Given the description of an element on the screen output the (x, y) to click on. 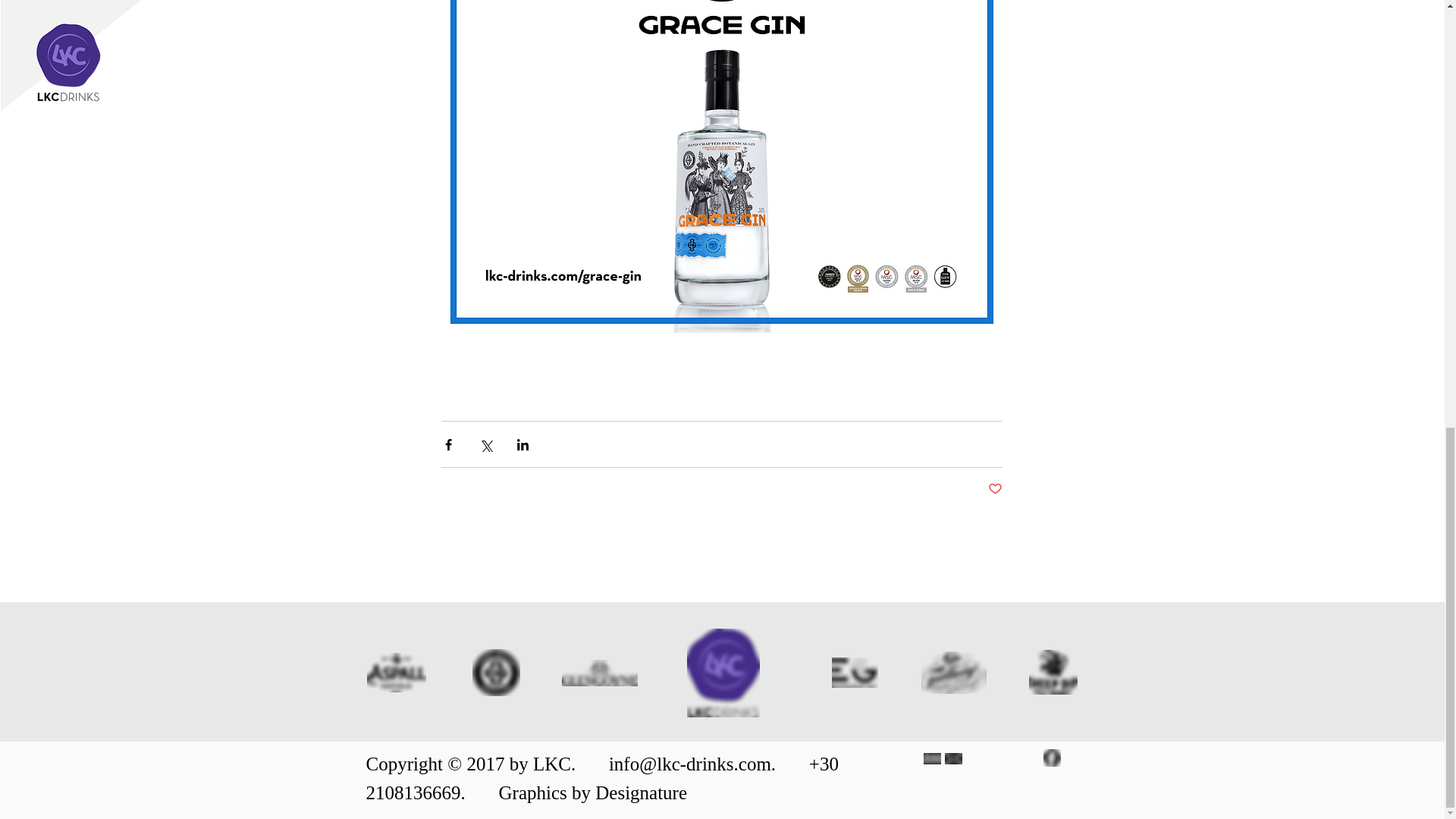
Post not marked as liked (994, 489)
Graphics by Designature (593, 792)
